Given the description of an element on the screen output the (x, y) to click on. 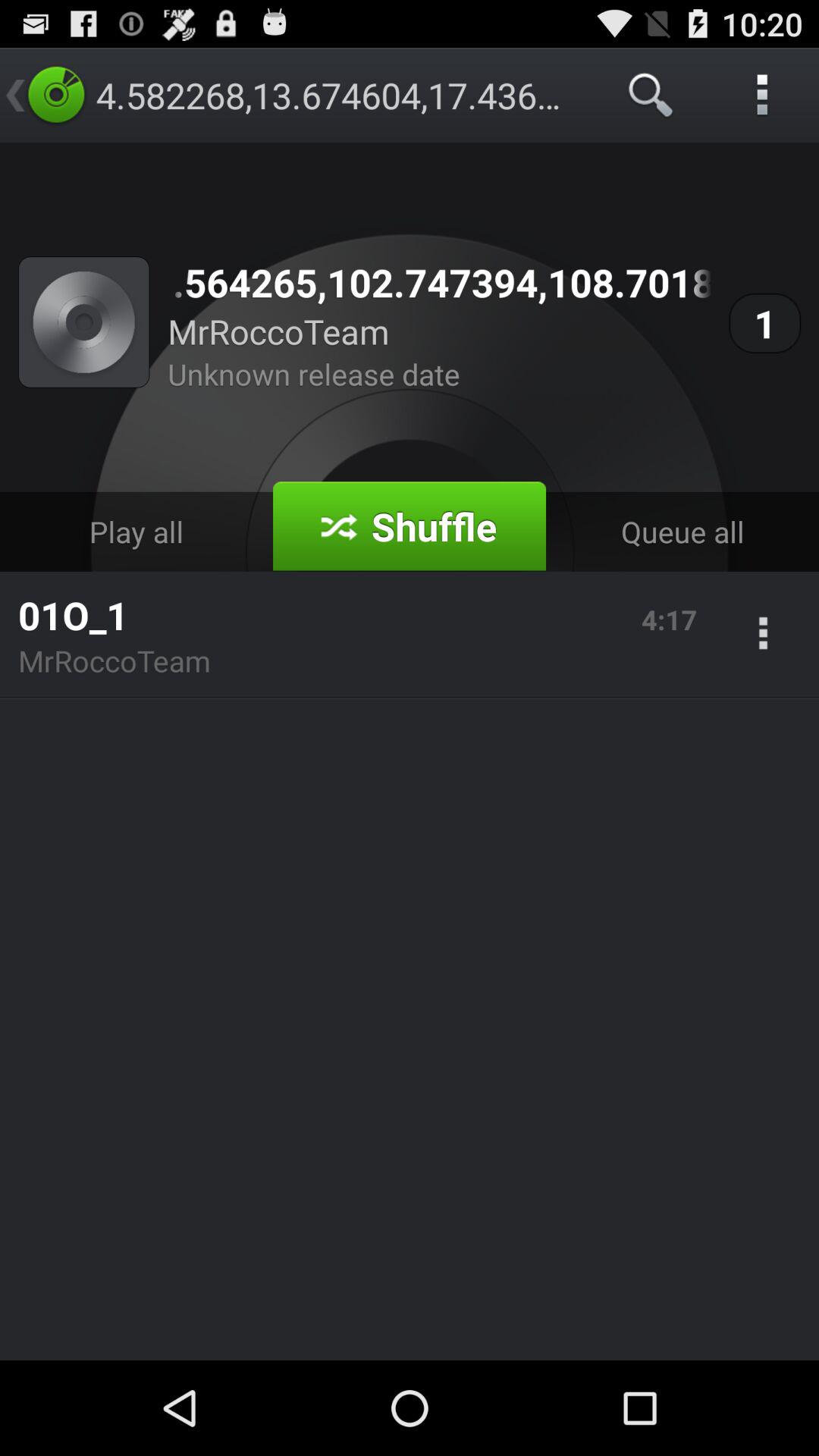
turn off the app above 01o_1 (136, 531)
